Given the description of an element on the screen output the (x, y) to click on. 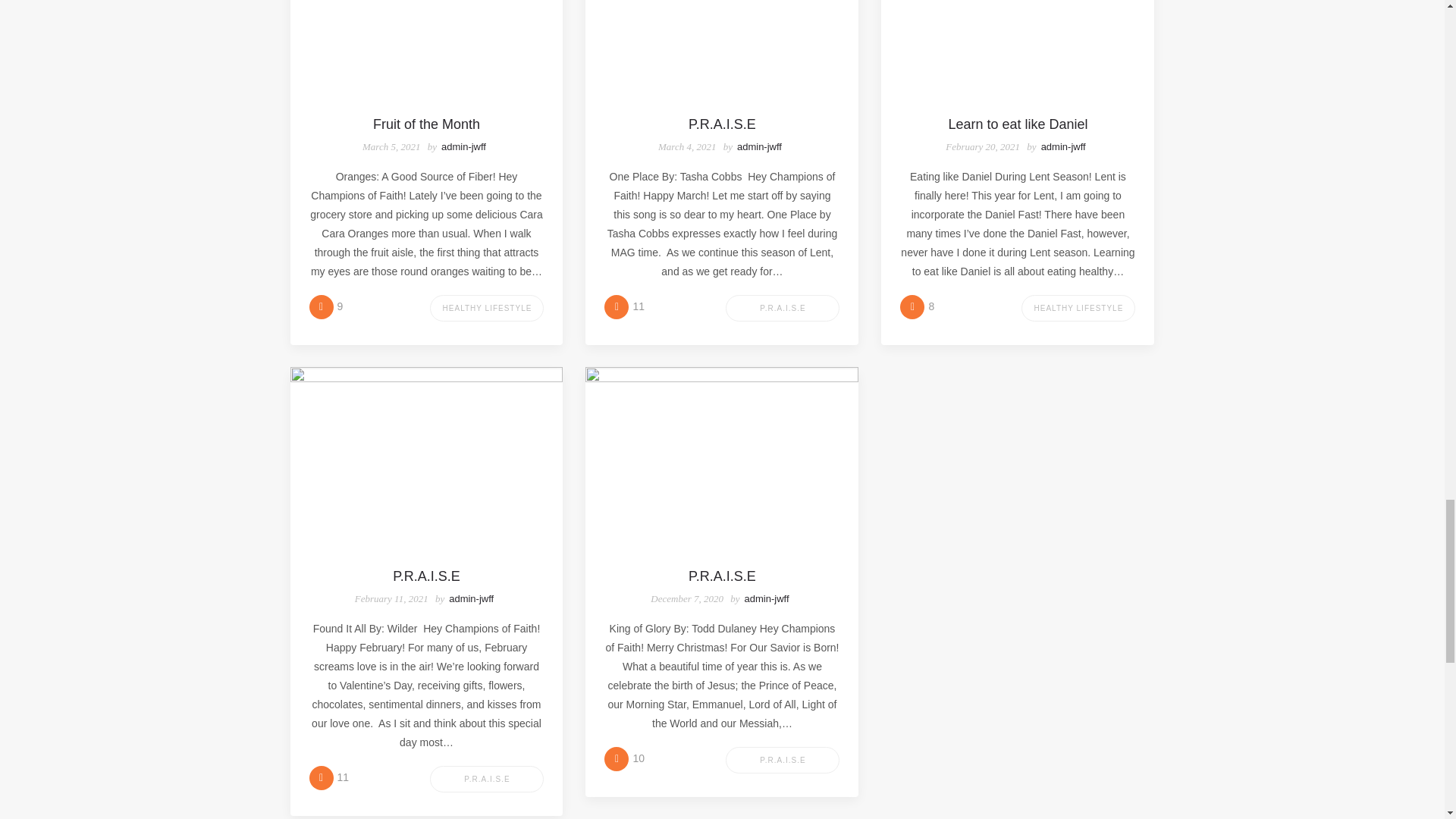
Posts by admin-jwff (758, 146)
Fruit of the Month (426, 124)
9 (325, 306)
admin-jwff (463, 146)
Posts by admin-jwff (1063, 146)
HEALTHY LIFESTYLE (486, 307)
Posts by admin-jwff (470, 598)
Posts by admin-jwff (463, 146)
Posts by admin-jwff (766, 598)
